Given the description of an element on the screen output the (x, y) to click on. 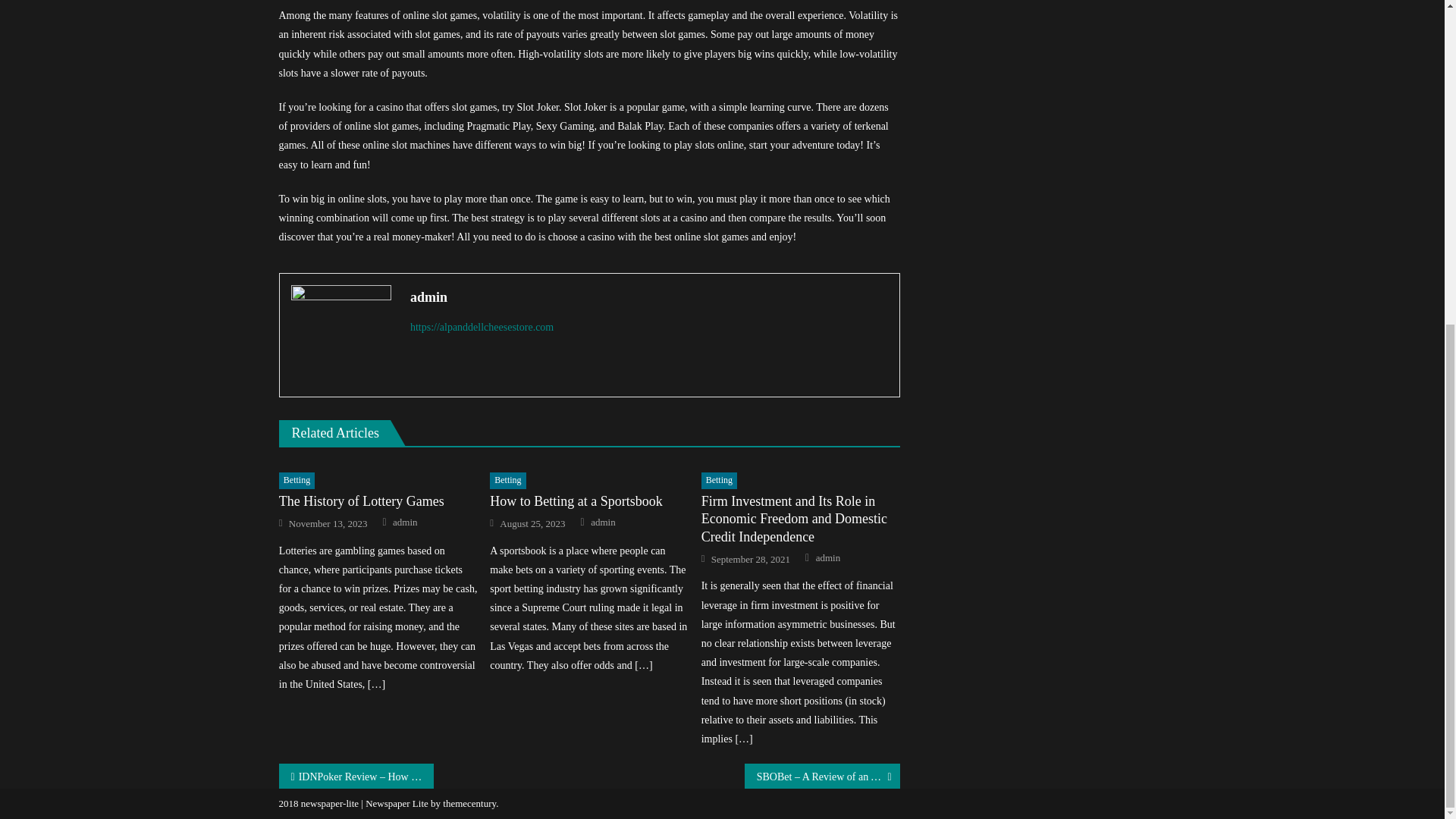
September 28, 2021 (750, 559)
Betting (718, 480)
Betting (296, 480)
admin (828, 558)
The History of Lottery Games (378, 501)
admin (649, 297)
Betting (507, 480)
admin (405, 522)
August 25, 2023 (531, 523)
November 13, 2023 (328, 523)
How to Betting at a Sportsbook (588, 501)
admin (603, 522)
themecentury (469, 803)
